Given the description of an element on the screen output the (x, y) to click on. 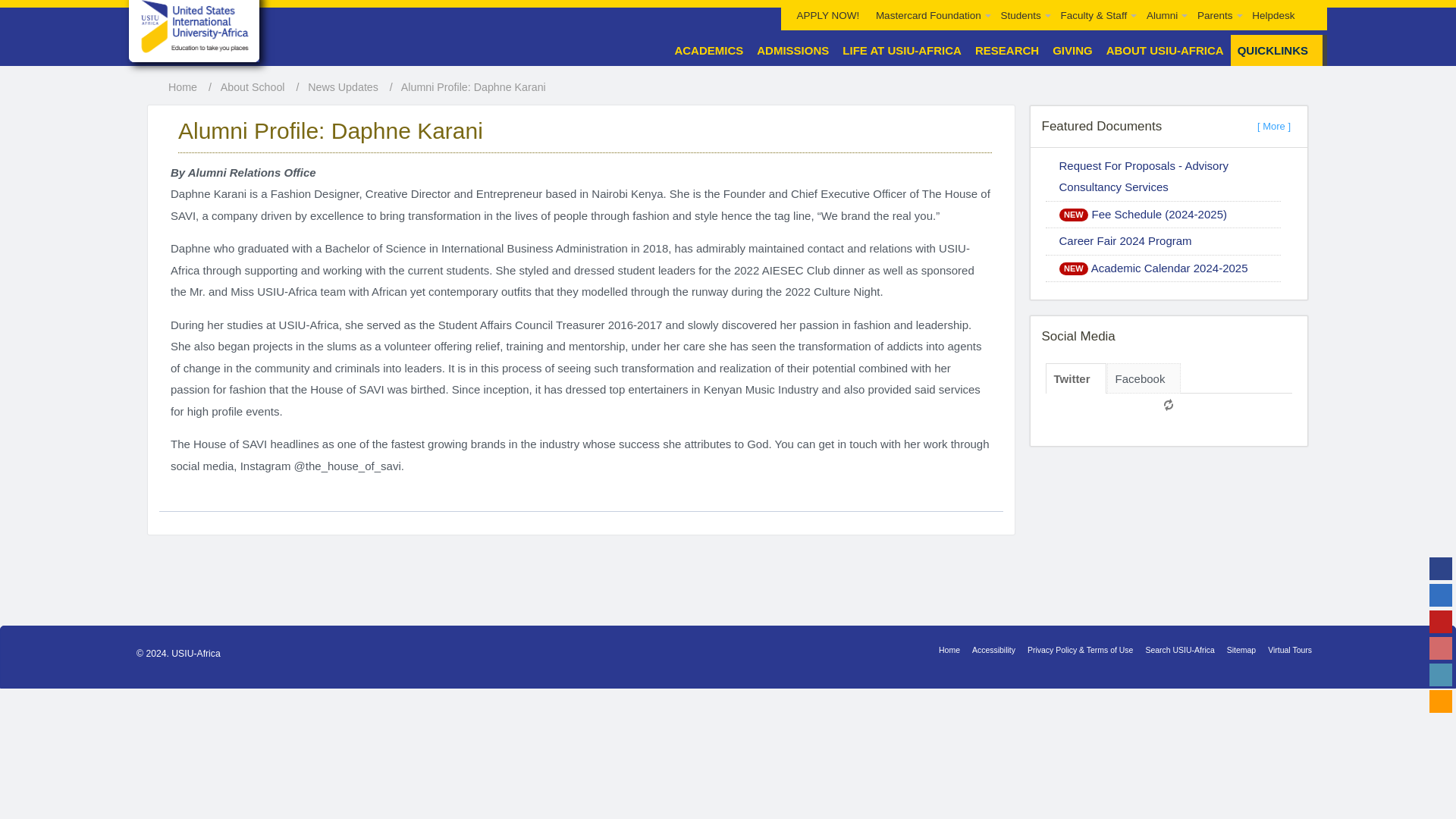
Facebook (1440, 568)
YouTube (1440, 621)
X (1440, 594)
LinkedIn (1440, 674)
Mastercard Foundation (929, 15)
Talk to us (1440, 701)
Search (1311, 5)
Students (1022, 15)
Instagram (1440, 648)
APPLY NOW! (828, 15)
